Given the description of an element on the screen output the (x, y) to click on. 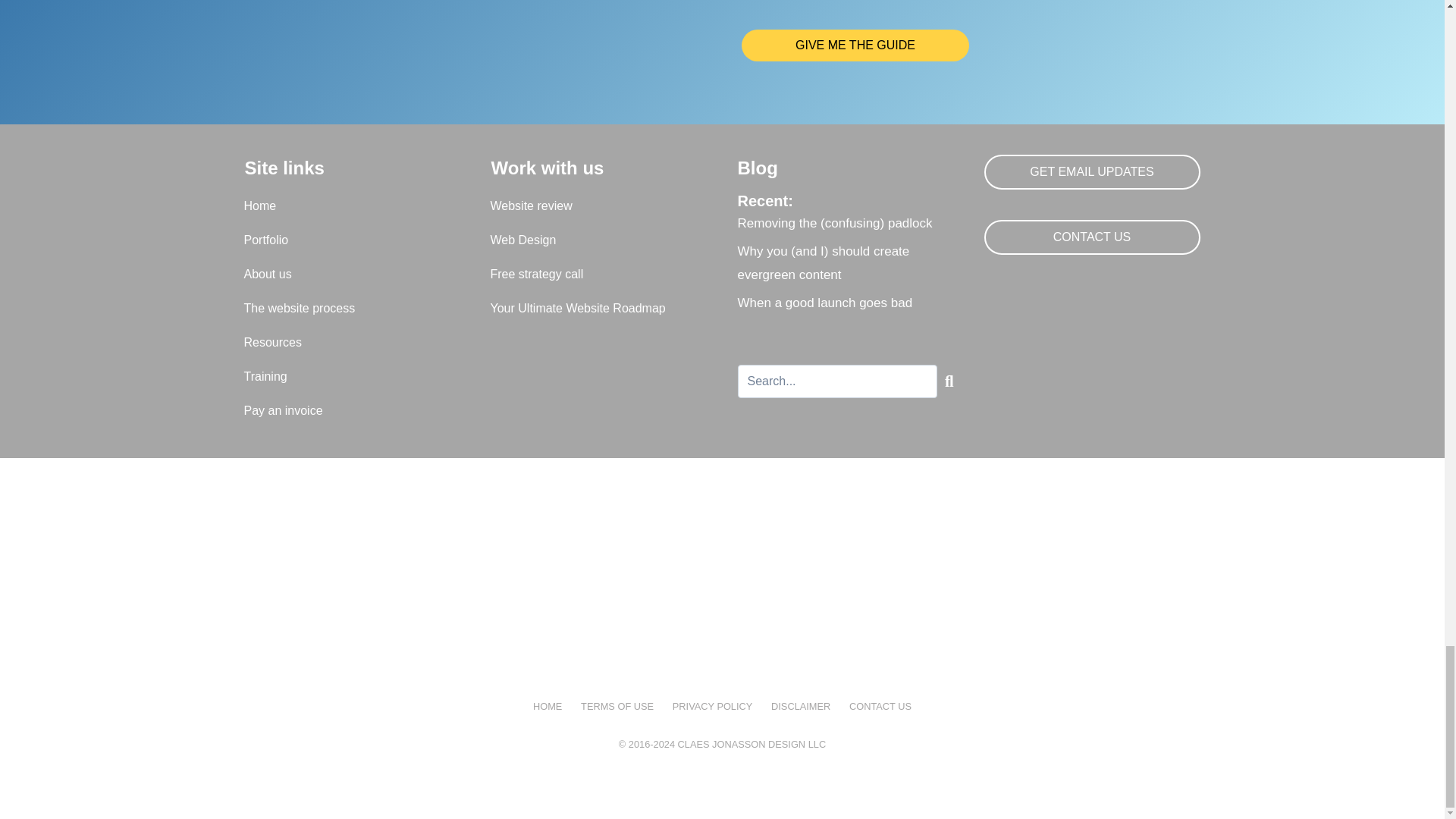
GIVE ME THE GUIDE (855, 45)
Resources (346, 342)
ebook-cover3 (366, 39)
Home (346, 205)
The website process (346, 308)
About us (346, 274)
Portfolio (346, 240)
CJDesignlogogray (721, 577)
